Given the description of an element on the screen output the (x, y) to click on. 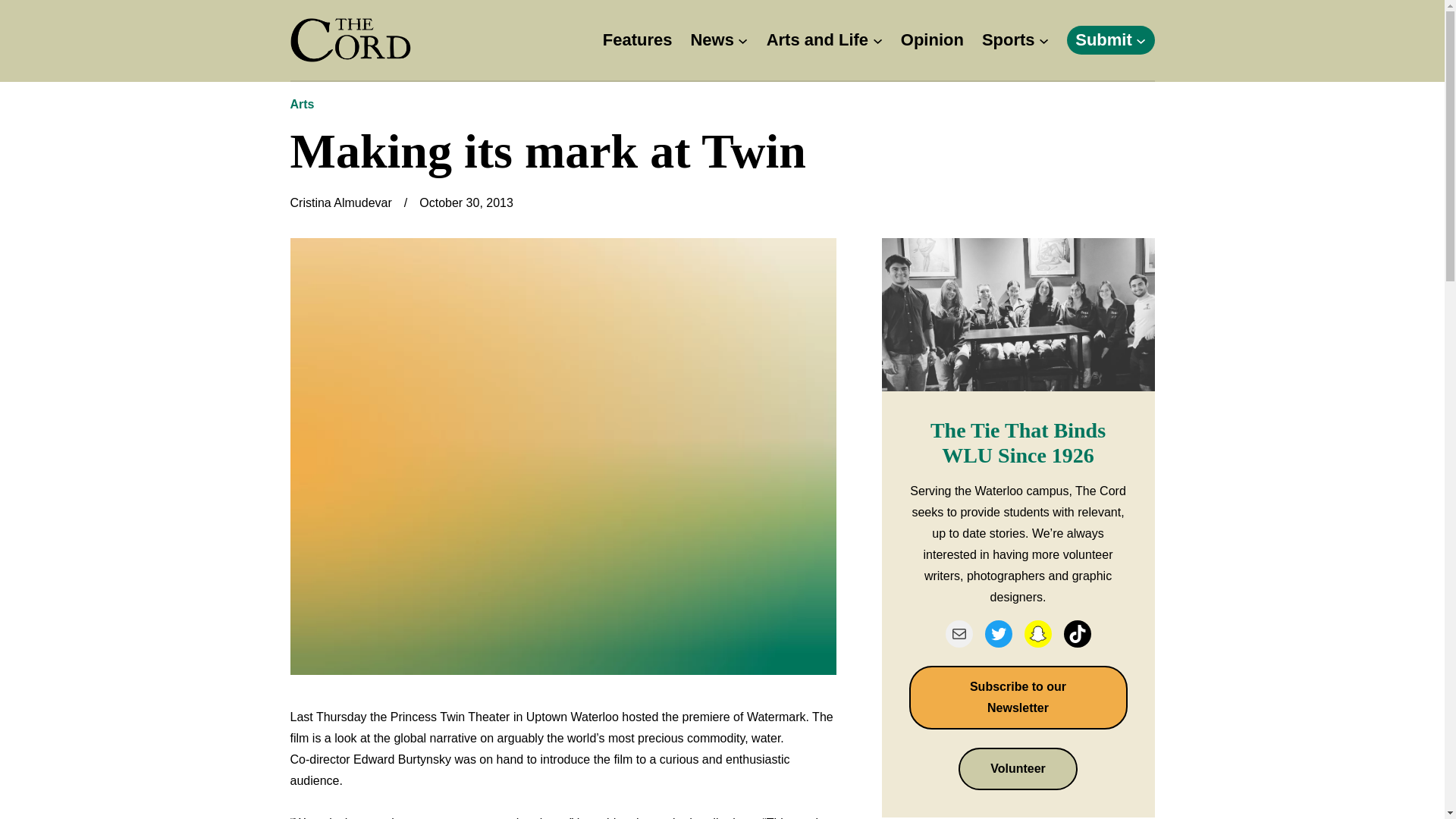
Features (637, 40)
Subscribe to our Newsletter (1017, 697)
Submit (1103, 40)
Arts and Life (817, 40)
TikTok (1076, 633)
Sports (1008, 40)
News (711, 40)
Twitter (997, 633)
Snapchat (1037, 633)
Opinion (932, 40)
